Given the description of an element on the screen output the (x, y) to click on. 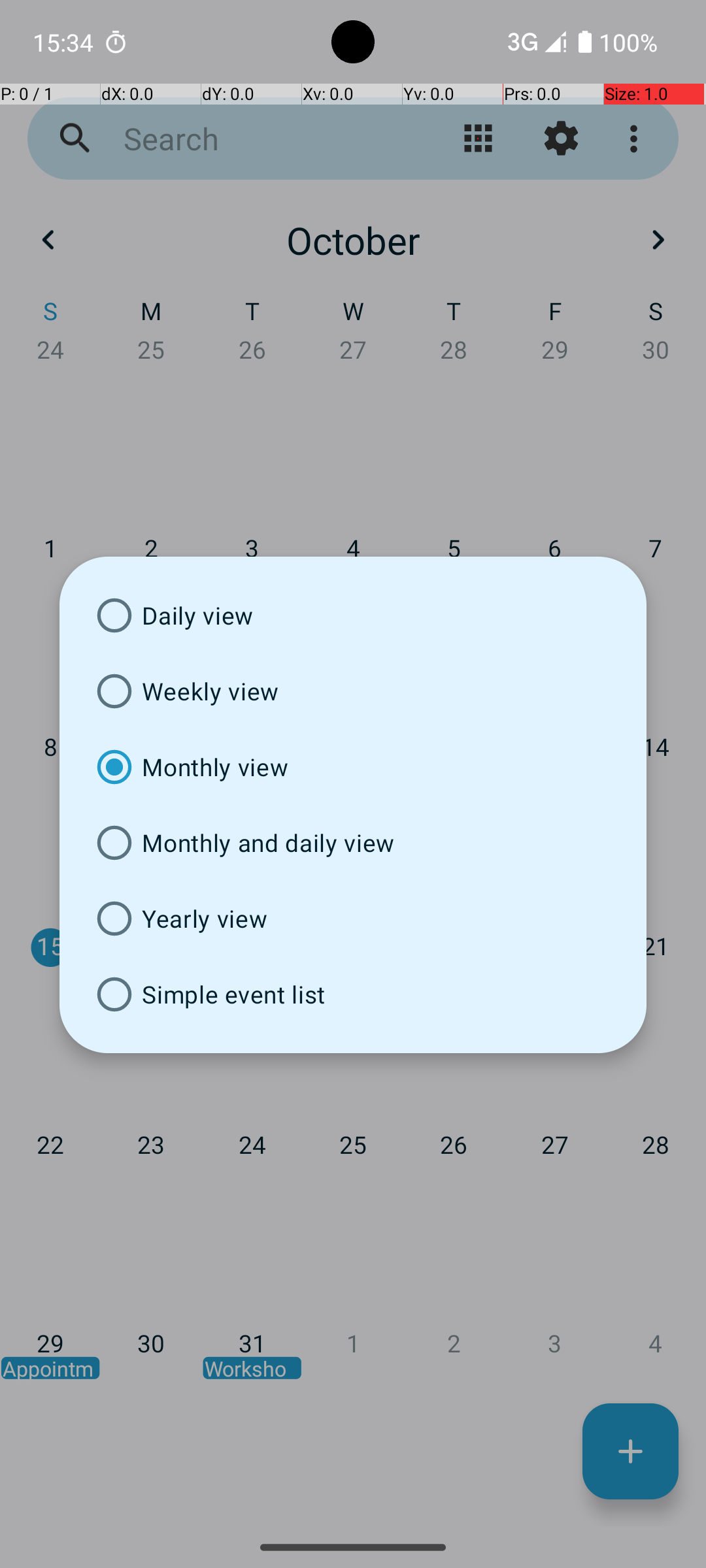
Daily view Element type: android.widget.RadioButton (352, 615)
Weekly view Element type: android.widget.RadioButton (352, 691)
Monthly view Element type: android.widget.RadioButton (352, 766)
Monthly and daily view Element type: android.widget.RadioButton (352, 842)
Yearly view Element type: android.widget.RadioButton (352, 918)
Simple event list Element type: android.widget.RadioButton (352, 994)
